Given the description of an element on the screen output the (x, y) to click on. 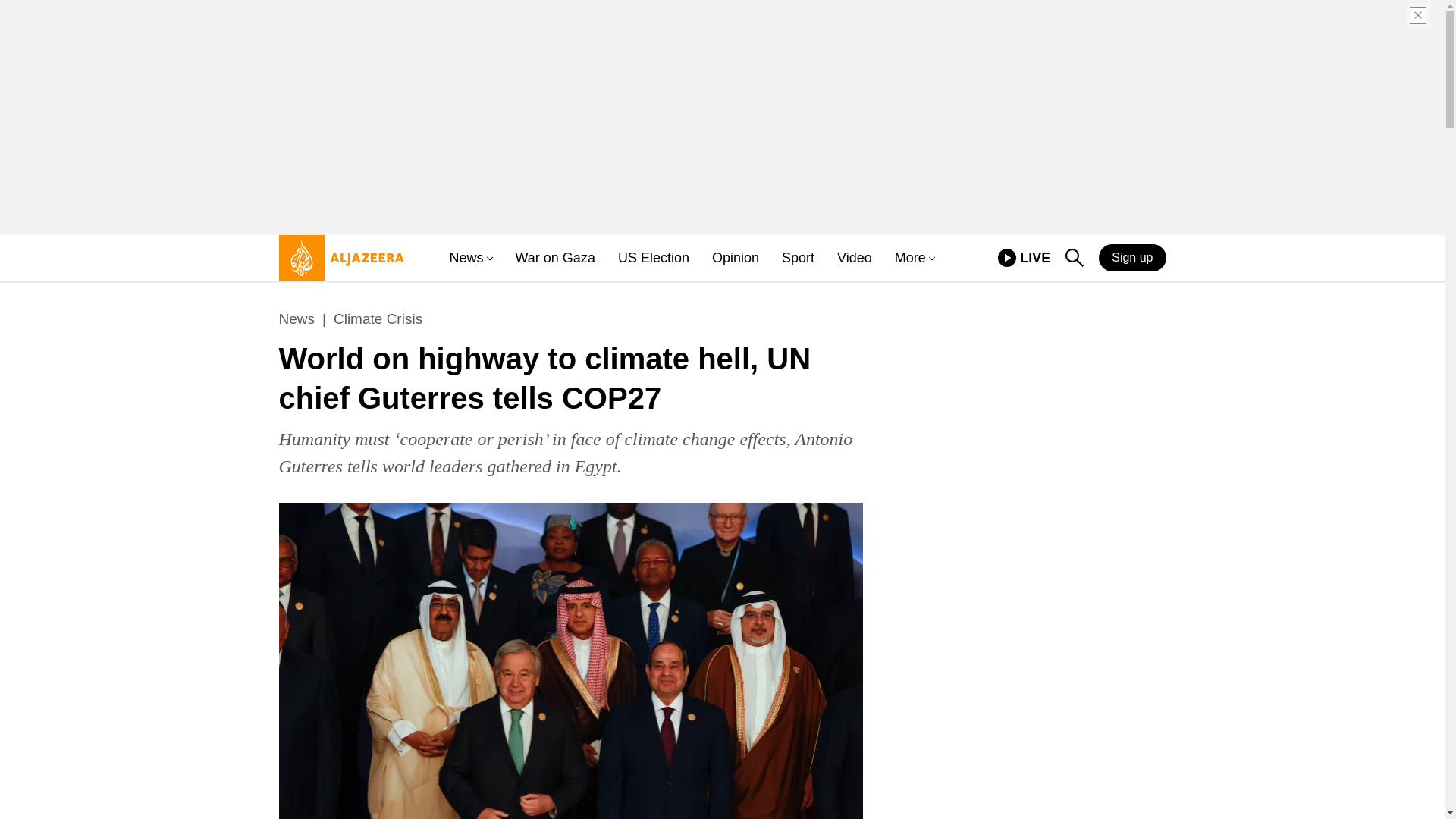
War on Gaza (555, 257)
play (1006, 257)
Show more news sections (488, 257)
News (297, 319)
search (1074, 259)
Climate Crisis (1074, 257)
Sport (377, 319)
US Election (797, 257)
Opinion (652, 257)
Show more sections (734, 257)
Video (1023, 257)
Skip to Content (930, 257)
News (854, 257)
